Given the description of an element on the screen output the (x, y) to click on. 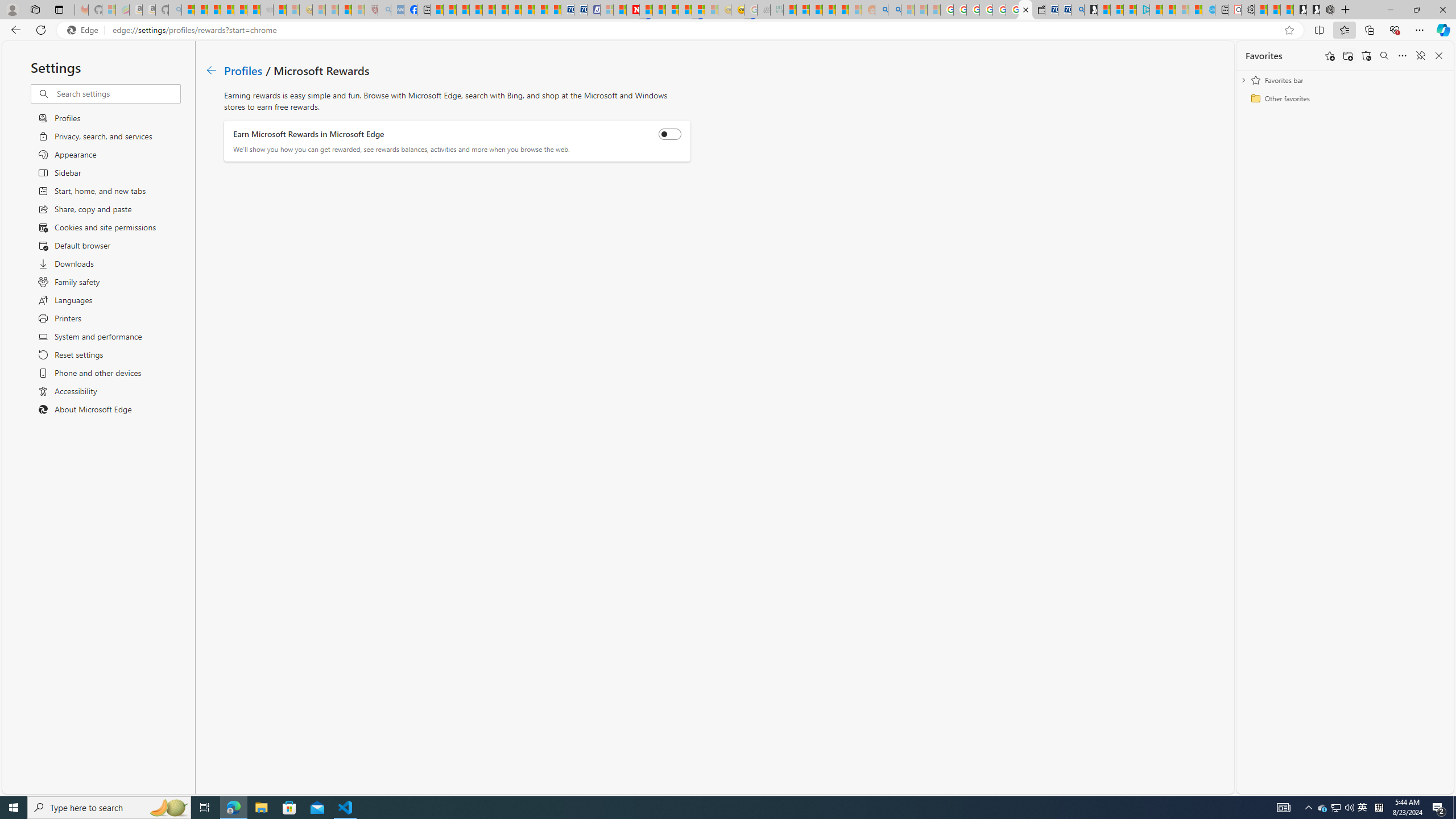
Profiles (243, 69)
Go back to Profiles page. (210, 70)
Add folder (1347, 55)
